Given the description of an element on the screen output the (x, y) to click on. 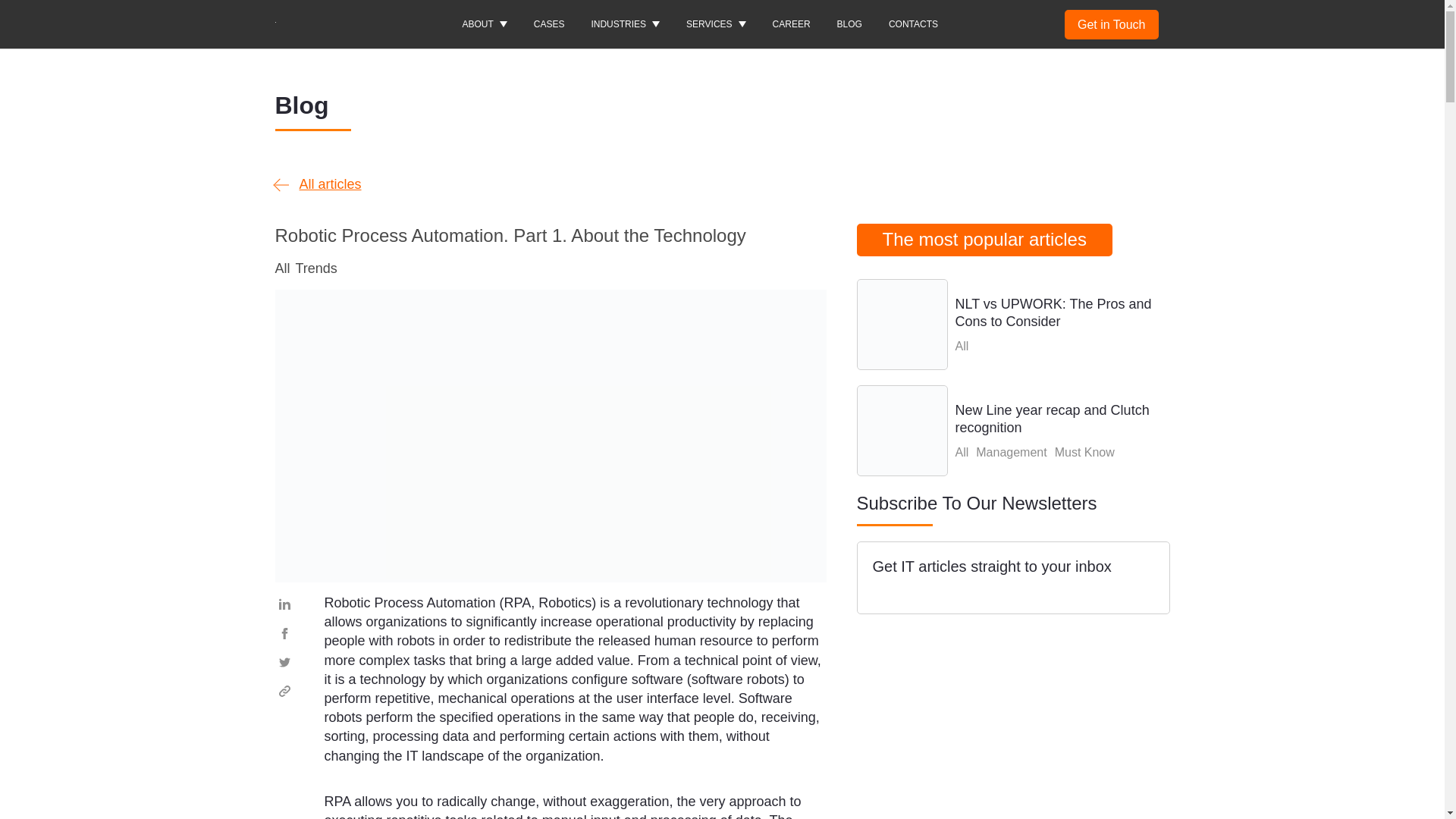
CONTACTS (912, 24)
Linkedin (284, 603)
SERVICES (715, 24)
Copy Link (284, 690)
ABOUT (483, 24)
INDUSTRIES (625, 24)
Twitter (284, 661)
Trends (316, 268)
The most popular articles (984, 239)
New Line year recap and Clutch recognition (1013, 429)
Get in Touch (1111, 24)
All articles (318, 184)
NLT vs UPWORK: The Pros and Cons to Consider (1013, 324)
Facebook (284, 632)
